Given the description of an element on the screen output the (x, y) to click on. 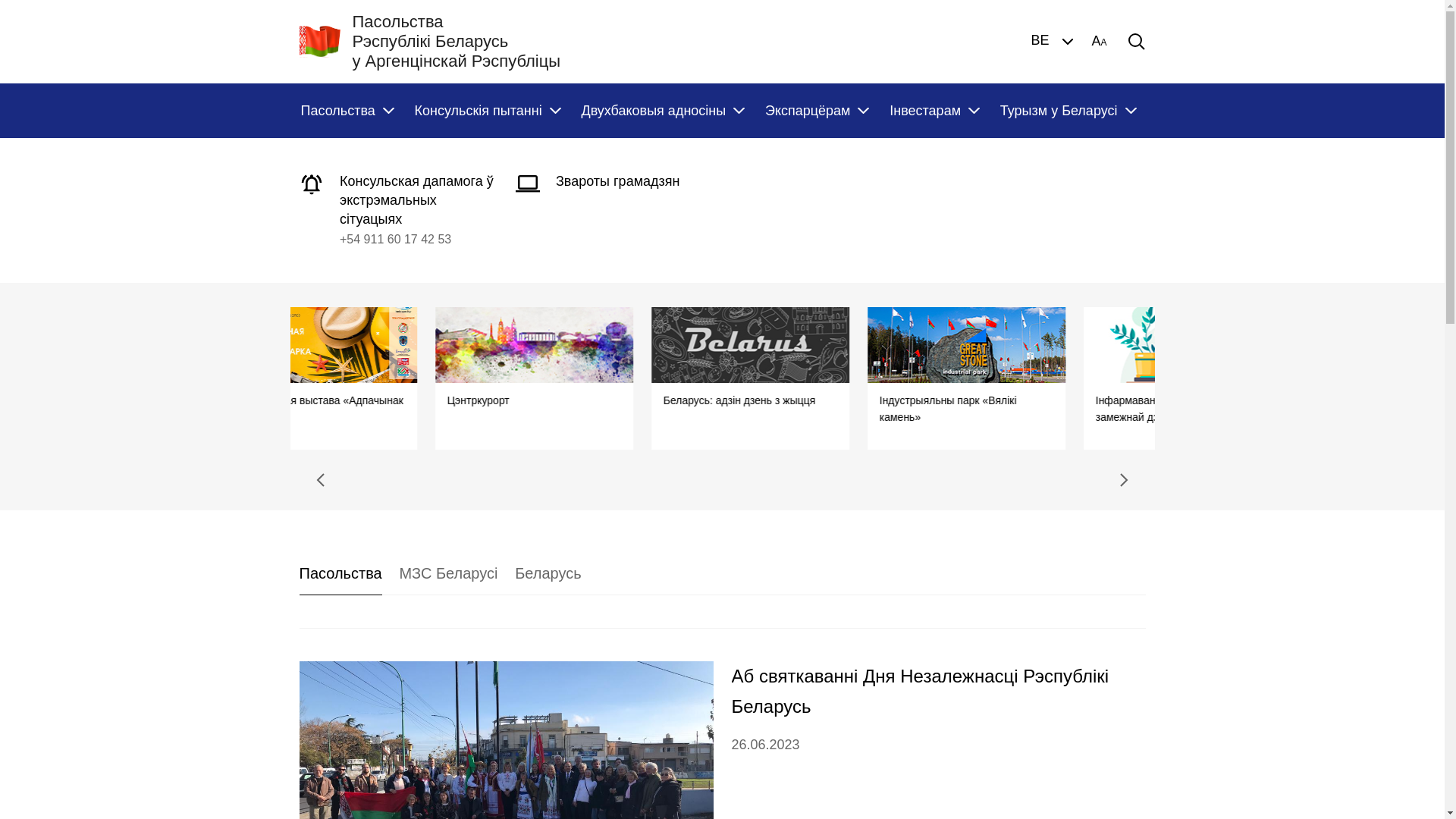
Next Element type: text (1123, 479)
Previous Element type: text (319, 479)
AA Element type: text (1098, 41)
